Given the description of an element on the screen output the (x, y) to click on. 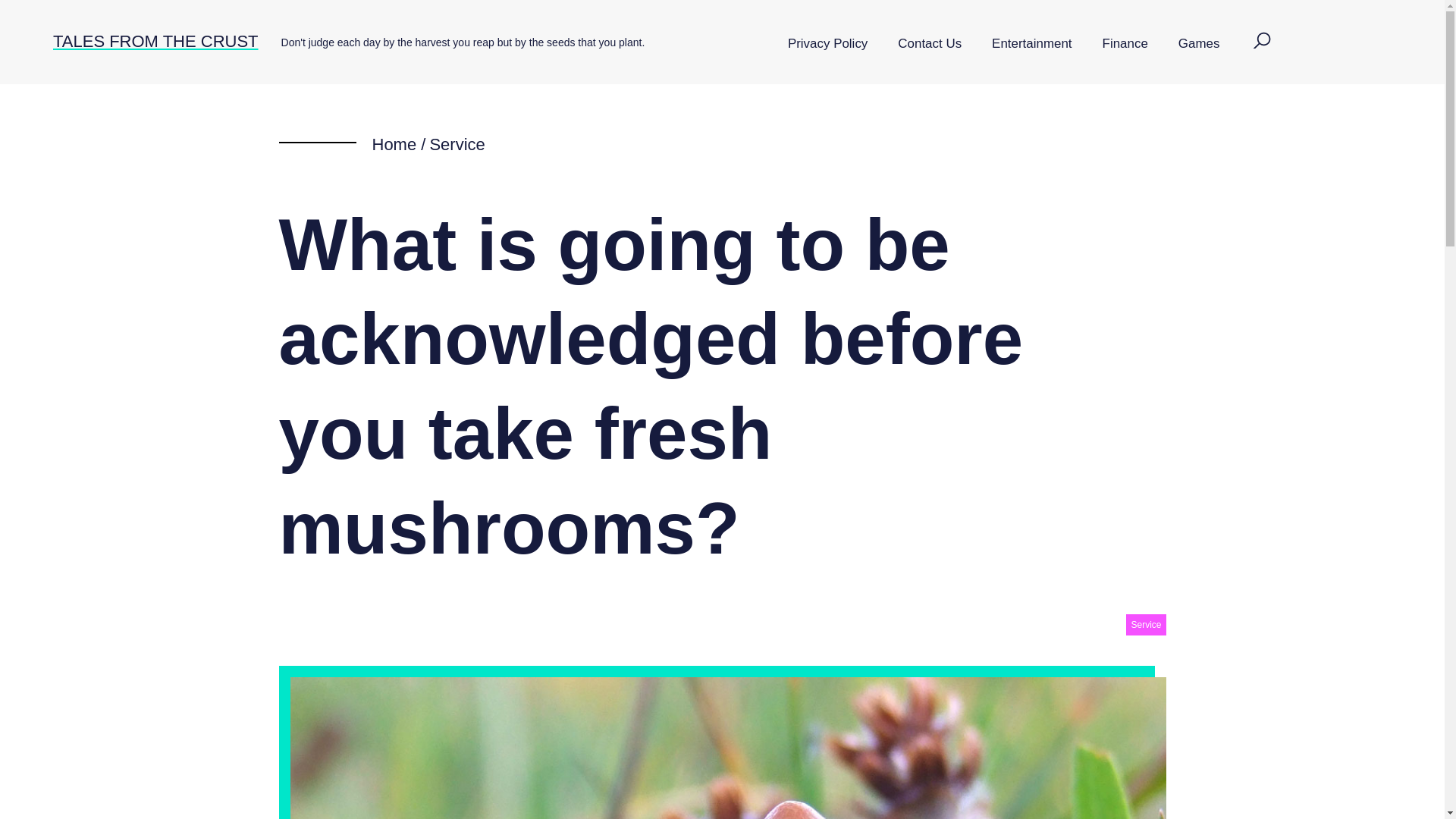
Home (393, 144)
Service (456, 144)
Service (1145, 624)
Privacy Policy (827, 43)
Finance (1125, 43)
Contact Us (929, 43)
Entertainment (1031, 43)
Games (1198, 43)
TALES FROM THE CRUST (155, 40)
